Given the description of an element on the screen output the (x, y) to click on. 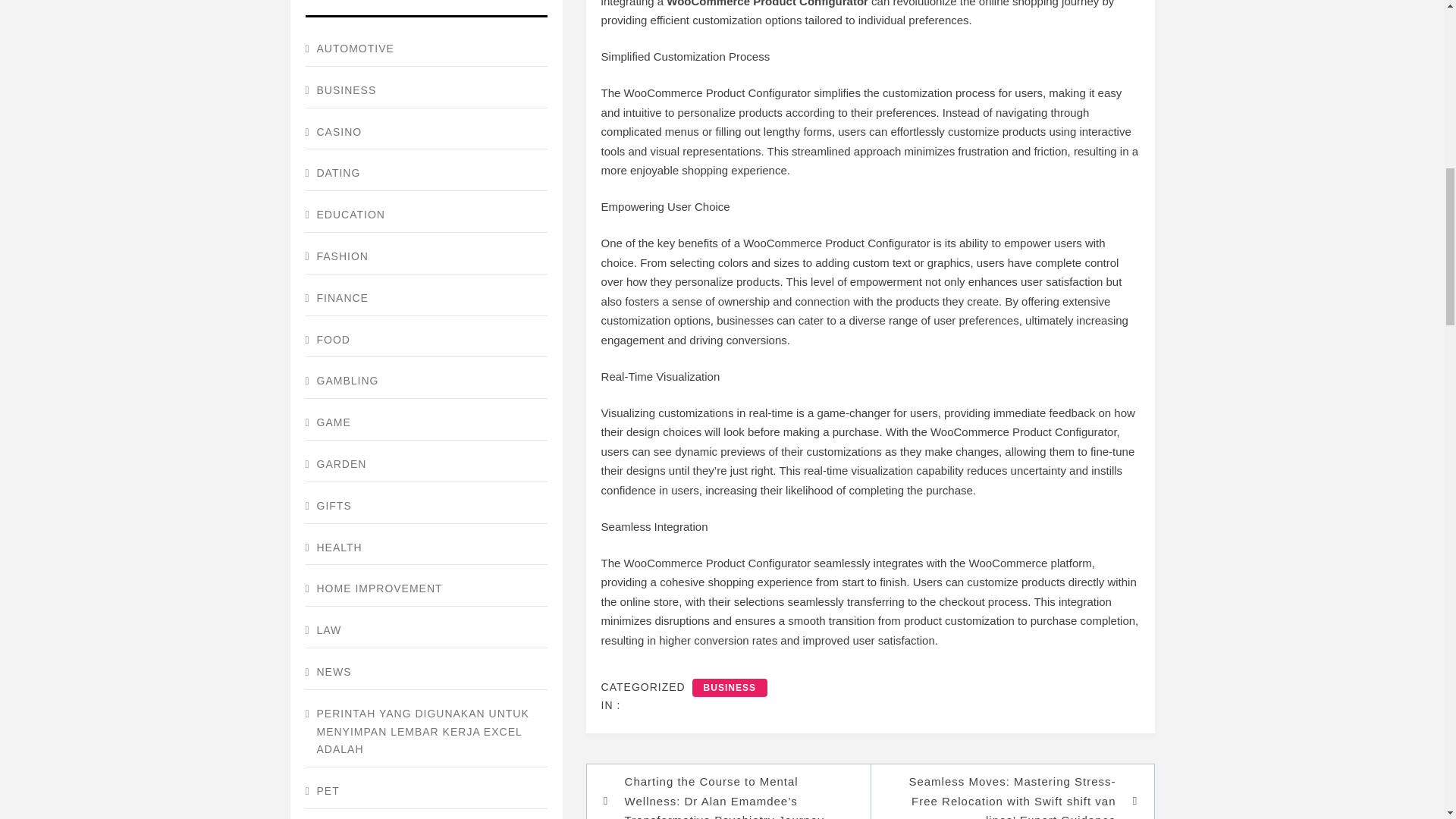
EDUCATION (425, 215)
GARDEN (425, 464)
LAW (425, 631)
GAMBLING (425, 381)
WooCommerce Product Configurator (766, 3)
NEWS (425, 673)
FINANCE (425, 298)
FASHION (425, 257)
GIFTS (425, 506)
BUSINESS (730, 687)
